Given the description of an element on the screen output the (x, y) to click on. 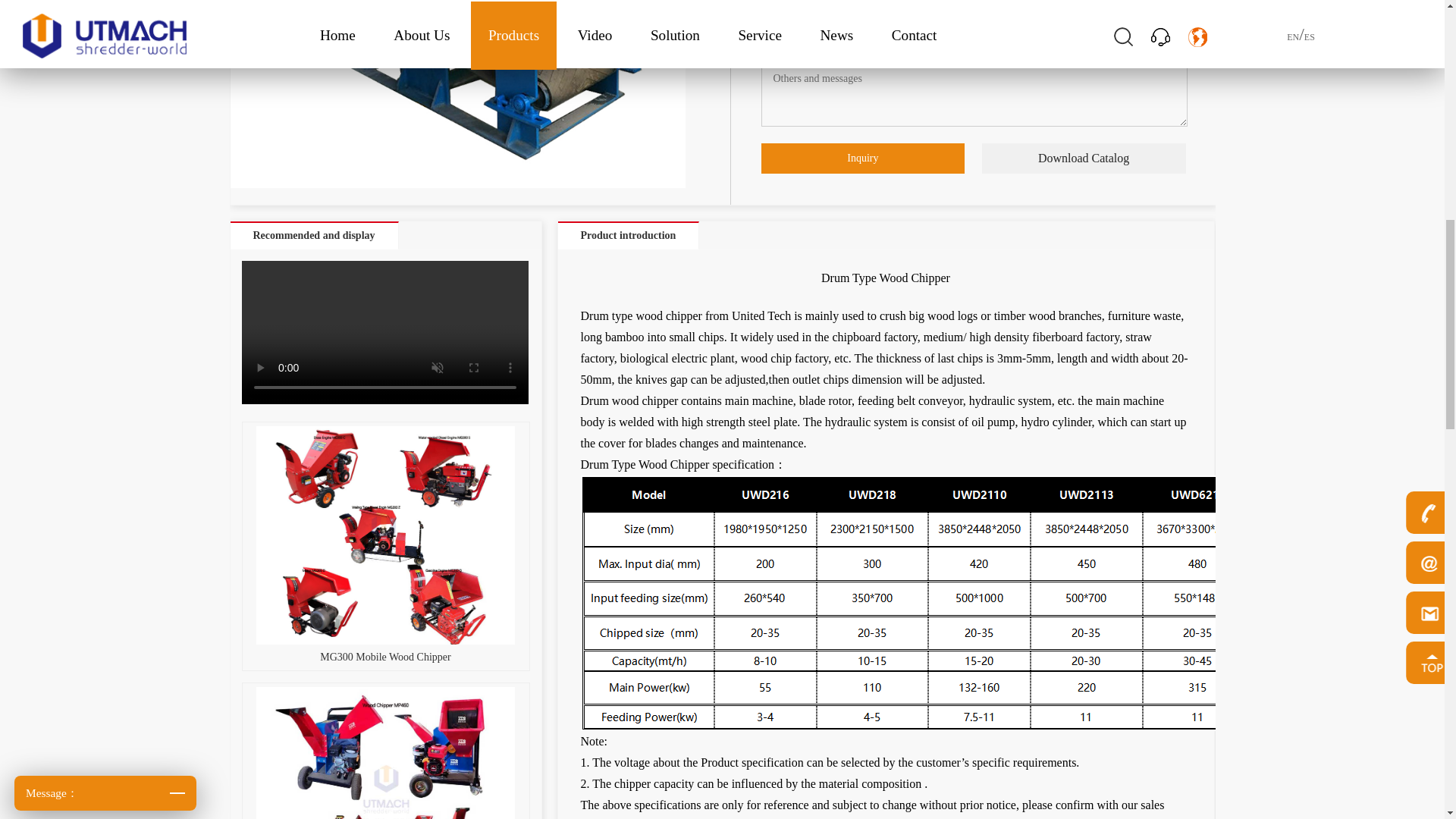
submit (105, 222)
MP470 Mobile Wood Chipper (386, 753)
MG300 Mobile Wood Chipper (386, 547)
Inquiry (863, 158)
